Given the description of an element on the screen output the (x, y) to click on. 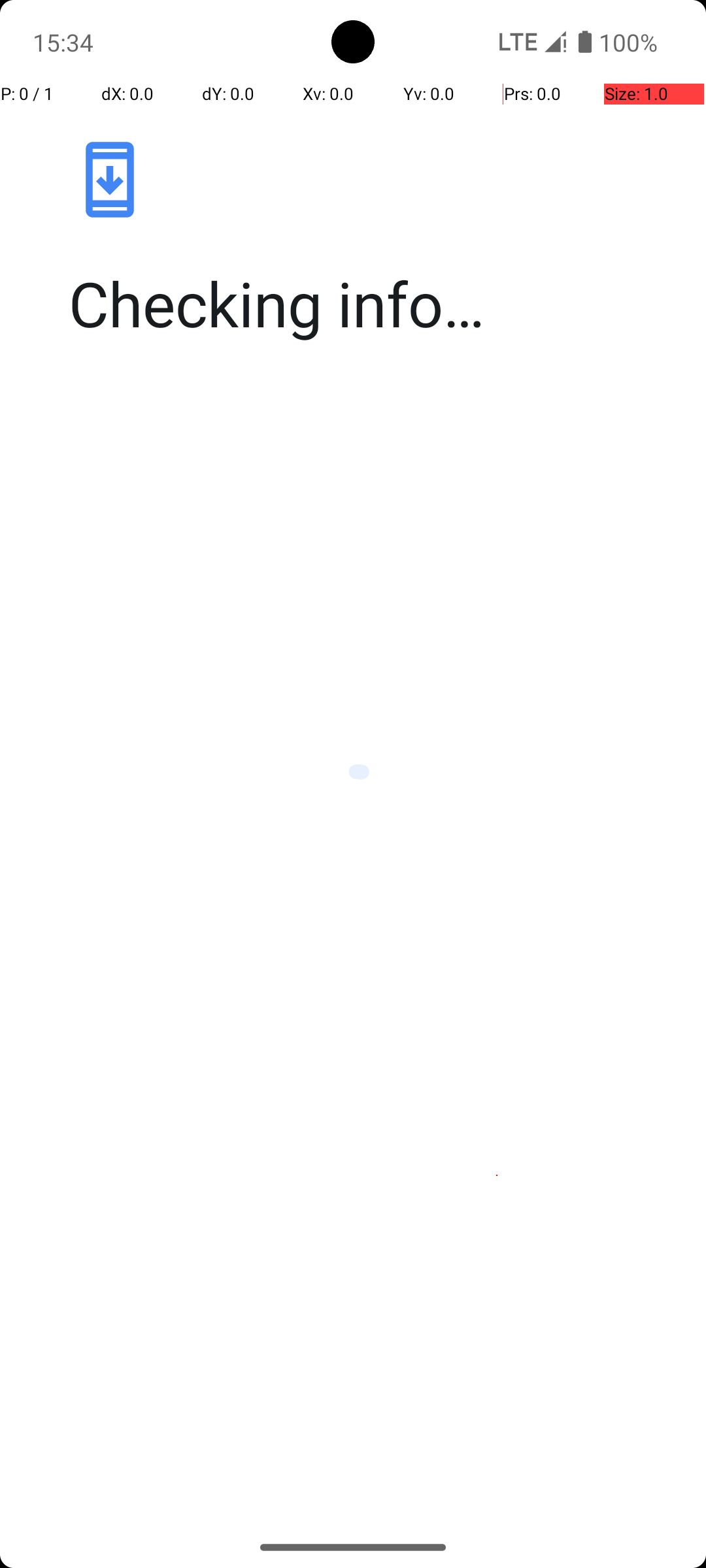
Checking info… Element type: android.widget.TextView (366, 302)
